Given the description of an element on the screen output the (x, y) to click on. 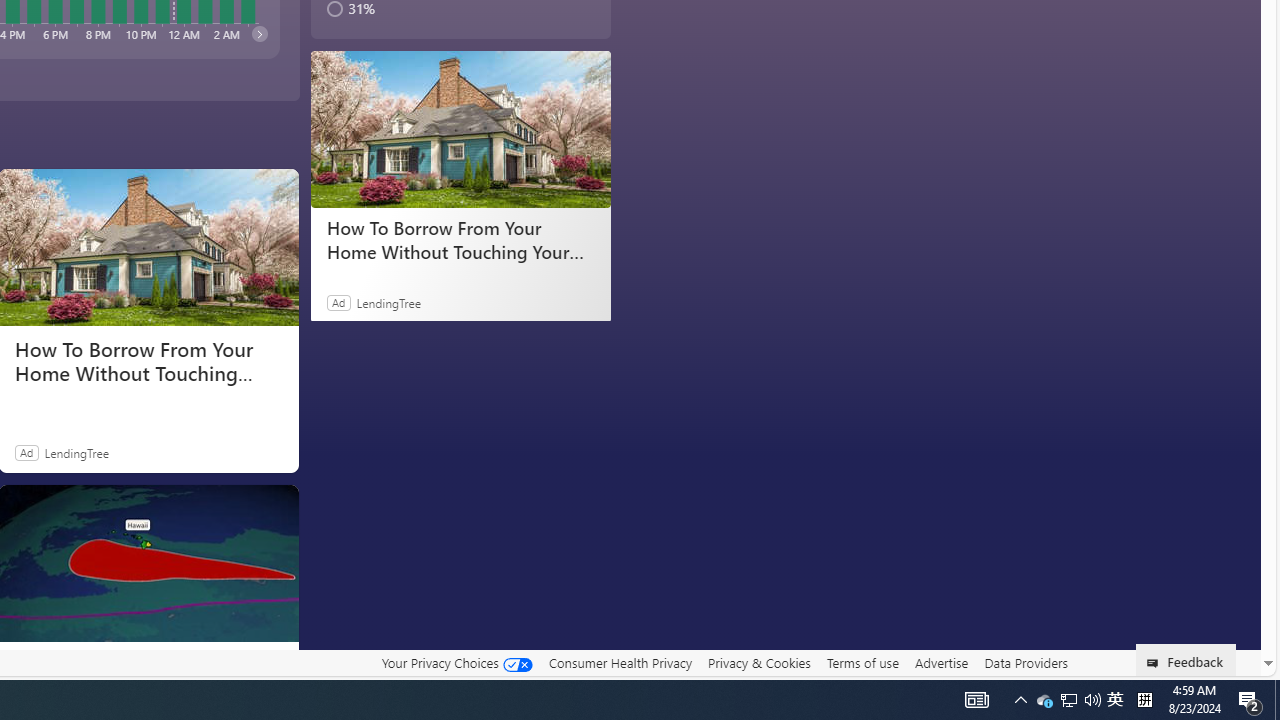
Class: feedback_link_icon-DS-EntryPoint1-1 (1156, 663)
The Weather Channel (22, 661)
Your Privacy Choices (456, 663)
next (258, 33)
